Given the description of an element on the screen output the (x, y) to click on. 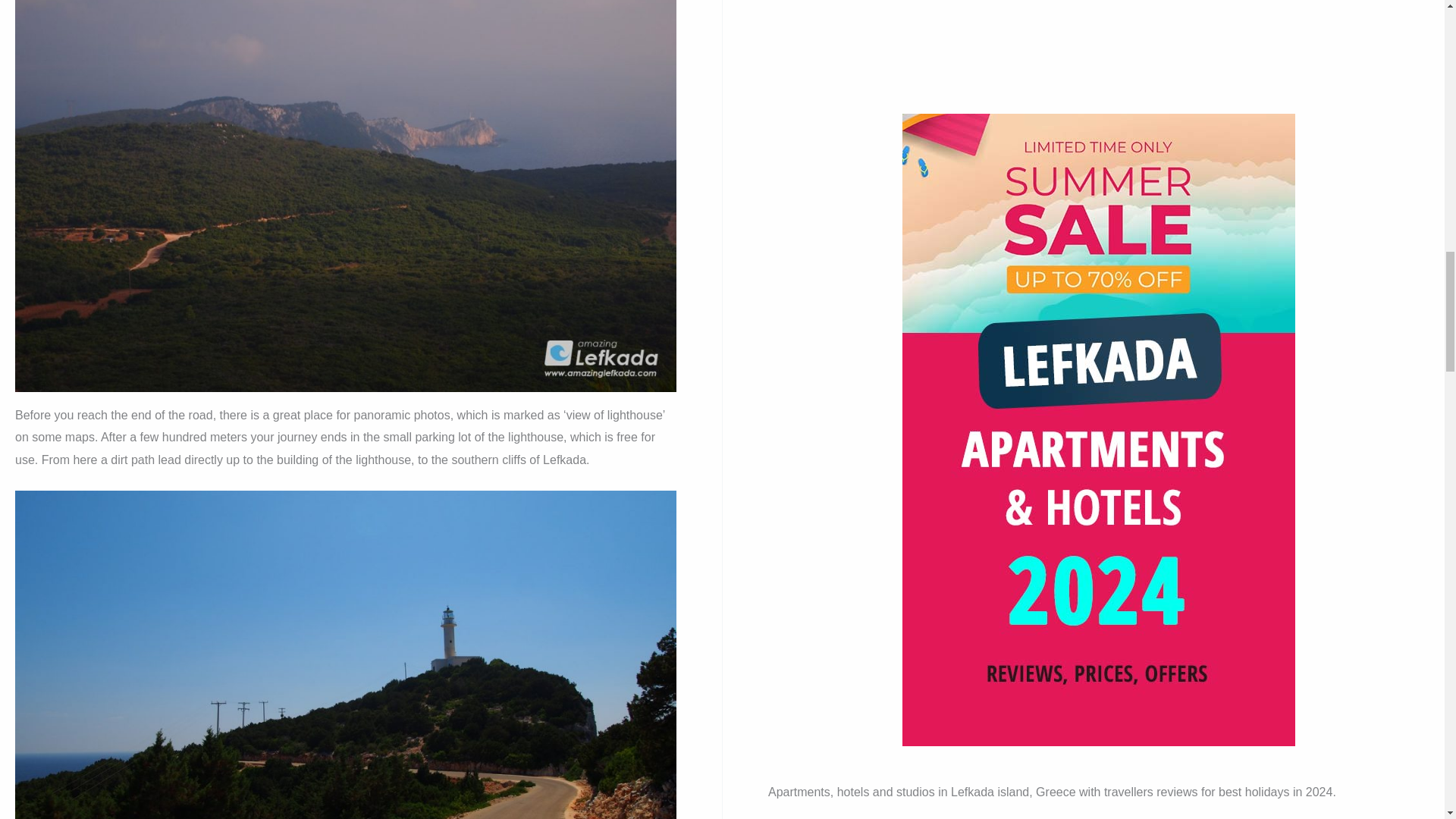
Cape Lefkatas in clouds (345, 379)
